Given the description of an element on the screen output the (x, y) to click on. 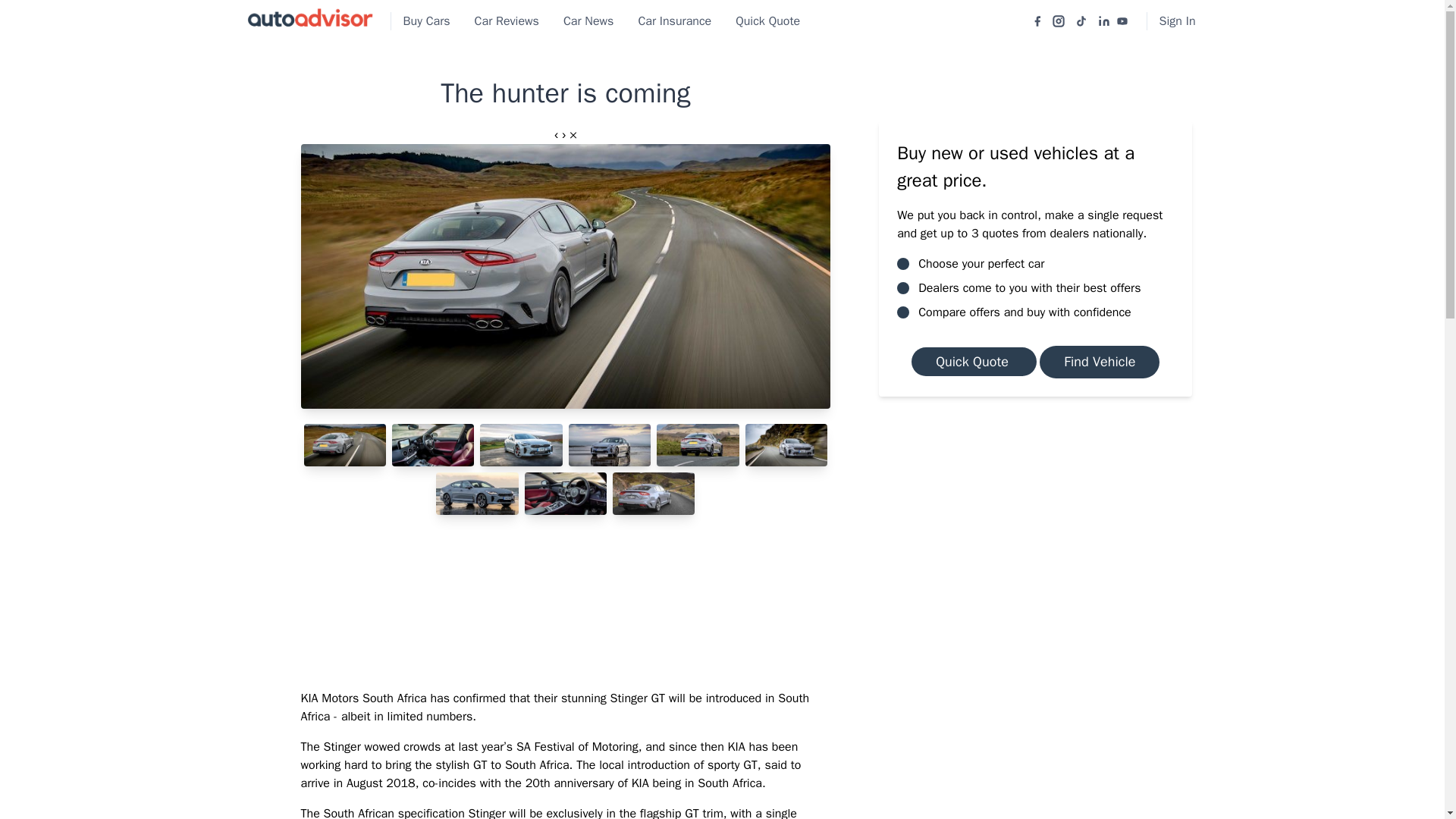
3rd party ad content (565, 600)
Buy Cars (427, 21)
3rd party ad content (1035, 533)
